Given the description of an element on the screen output the (x, y) to click on. 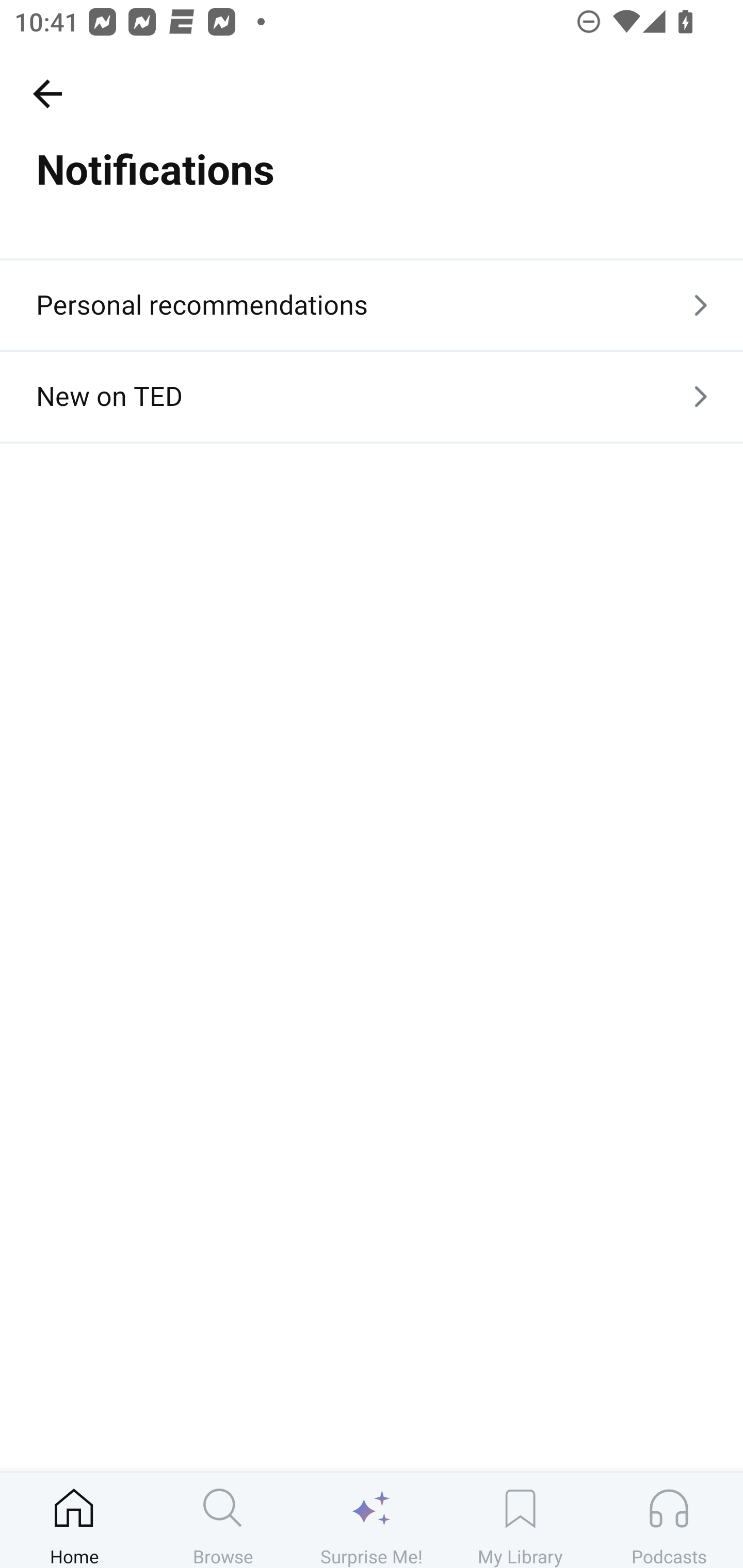
Settings, back (47, 92)
Personal recommendations (371, 304)
New on TED (371, 396)
Home (74, 1520)
Browse (222, 1520)
Surprise Me! (371, 1520)
My Library (519, 1520)
Podcasts (668, 1520)
